Given the description of an element on the screen output the (x, y) to click on. 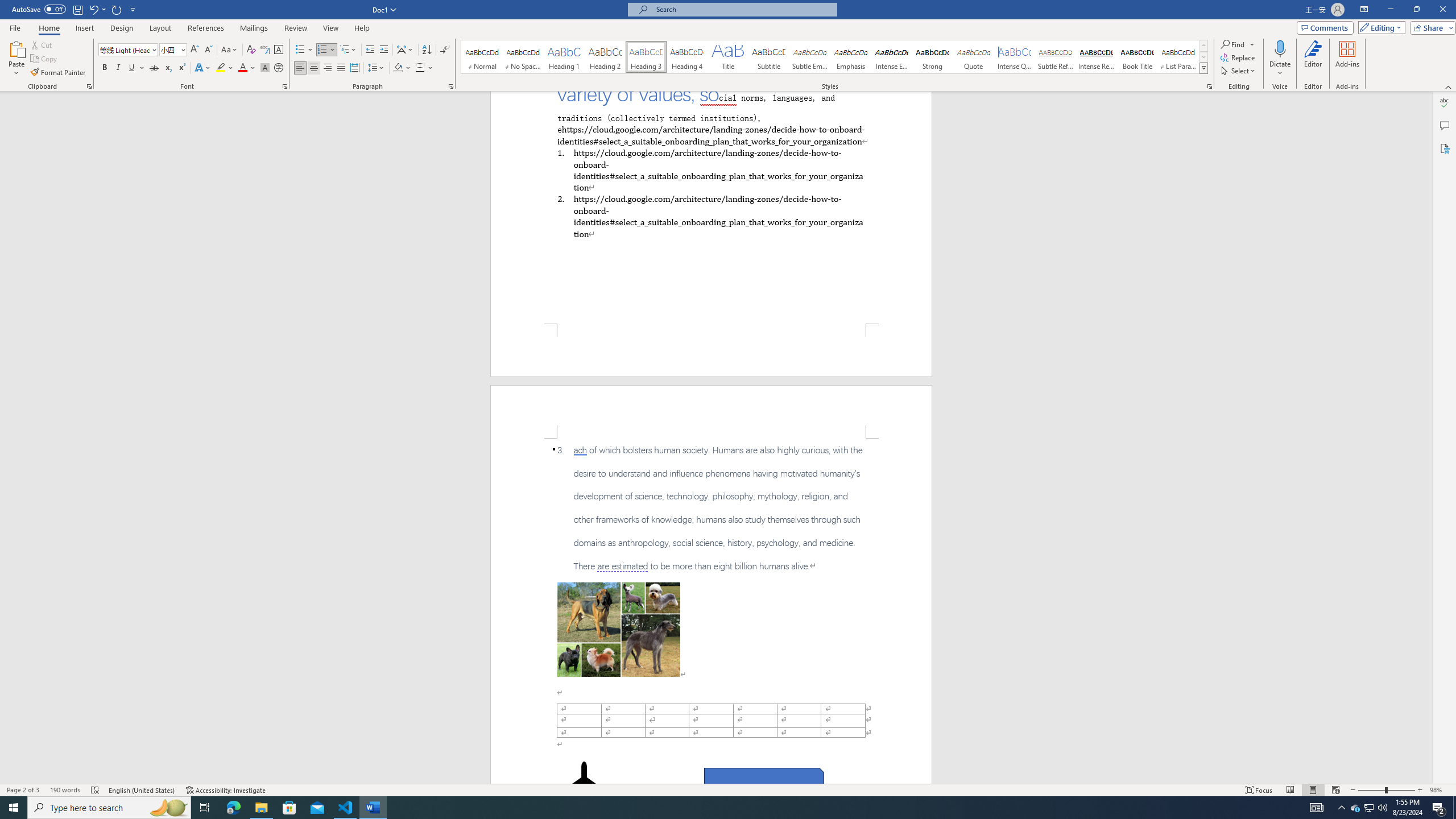
Strong (932, 56)
Heading 2 (605, 56)
Undo Paragraph Alignment (96, 9)
Airplane with solid fill (584, 783)
